Given the description of an element on the screen output the (x, y) to click on. 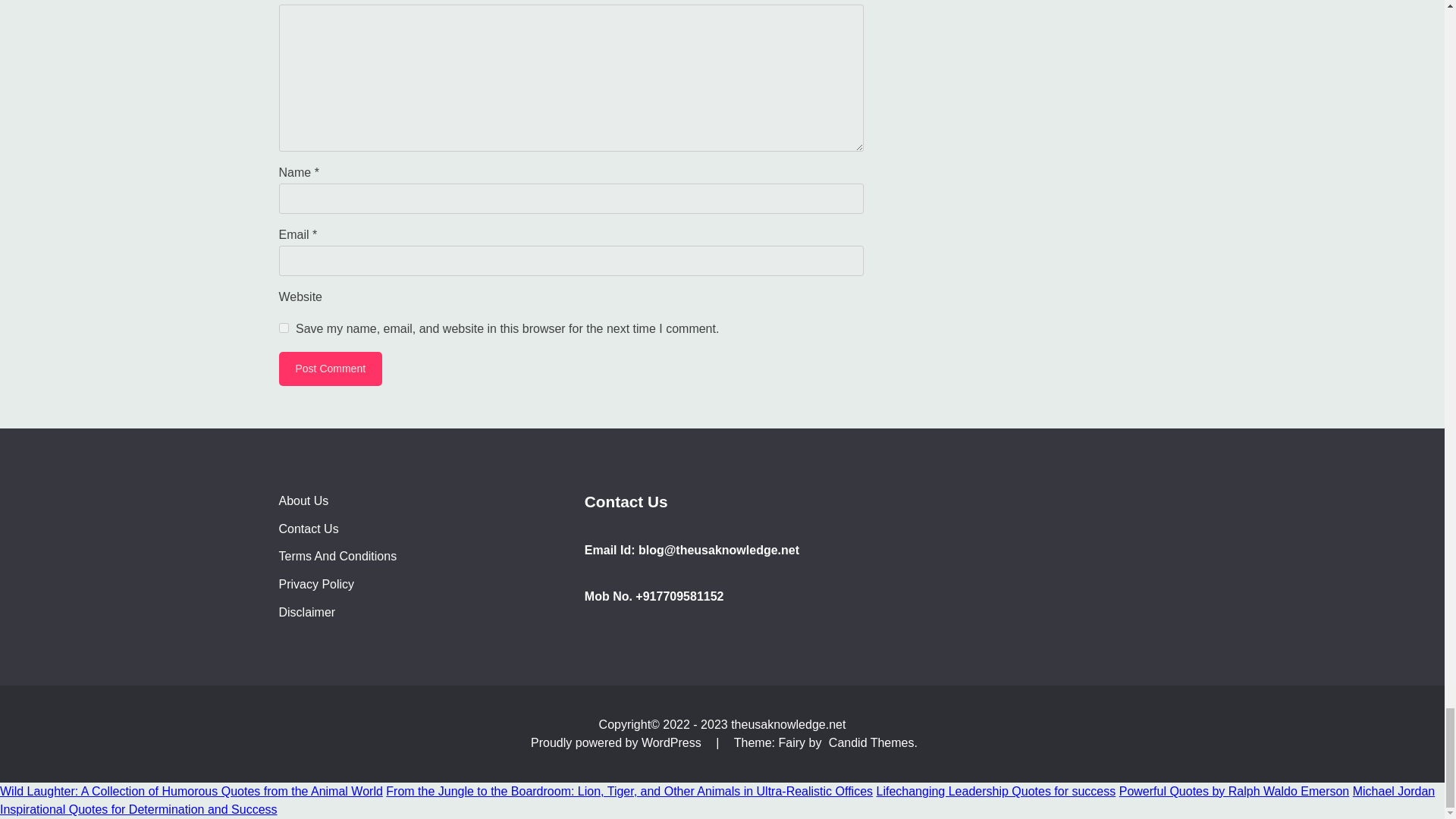
Post Comment (330, 368)
Post Comment (330, 368)
yes (283, 327)
